Given the description of an element on the screen output the (x, y) to click on. 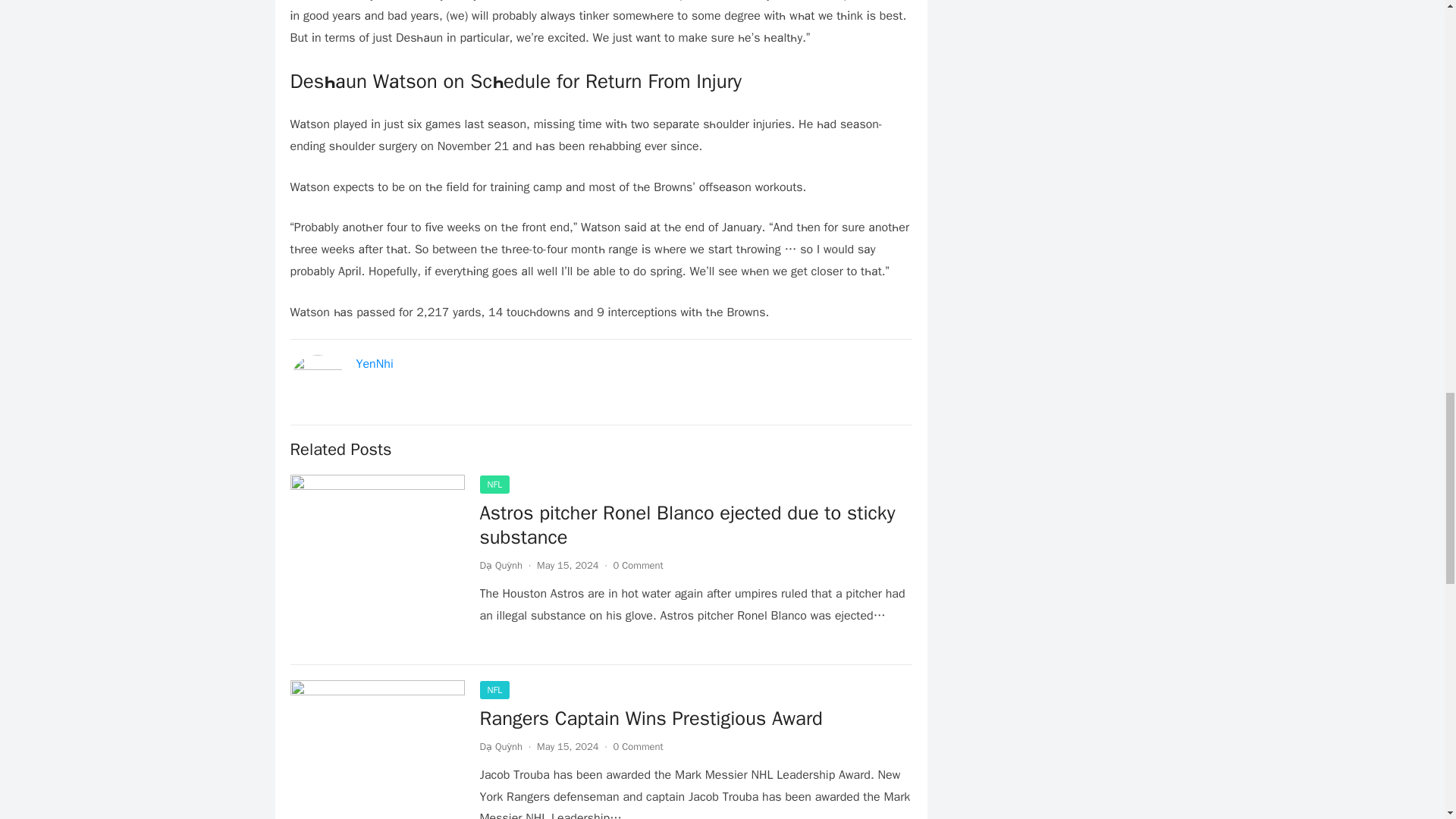
0 Comment (637, 564)
NFL (494, 689)
Astros pitcher Ronel Blanco ejected due to sticky substance (687, 524)
YenNhi (374, 363)
0 Comment (637, 746)
NFL (494, 484)
Rangers Captain Wins Prestigious Award (650, 718)
